Given the description of an element on the screen output the (x, y) to click on. 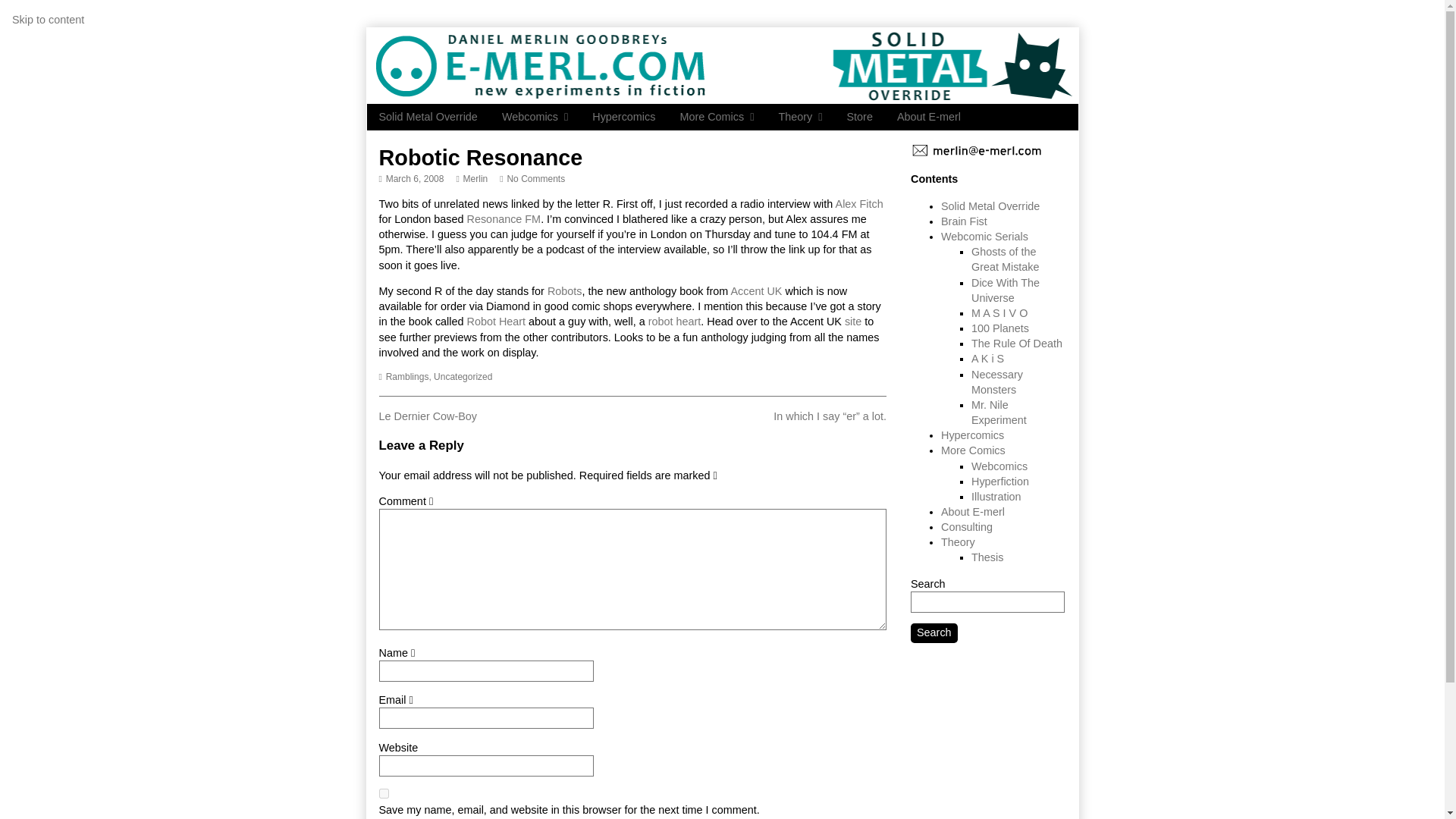
Ramblings (407, 376)
Skip to content (47, 19)
site (471, 178)
Alex Fitch (852, 321)
Hypercomics (859, 203)
yes (622, 117)
About E-merl (383, 793)
Theory (928, 117)
Accent UK (799, 117)
robot heart (755, 291)
More Comics (531, 178)
Uncategorized (674, 321)
